Given the description of an element on the screen output the (x, y) to click on. 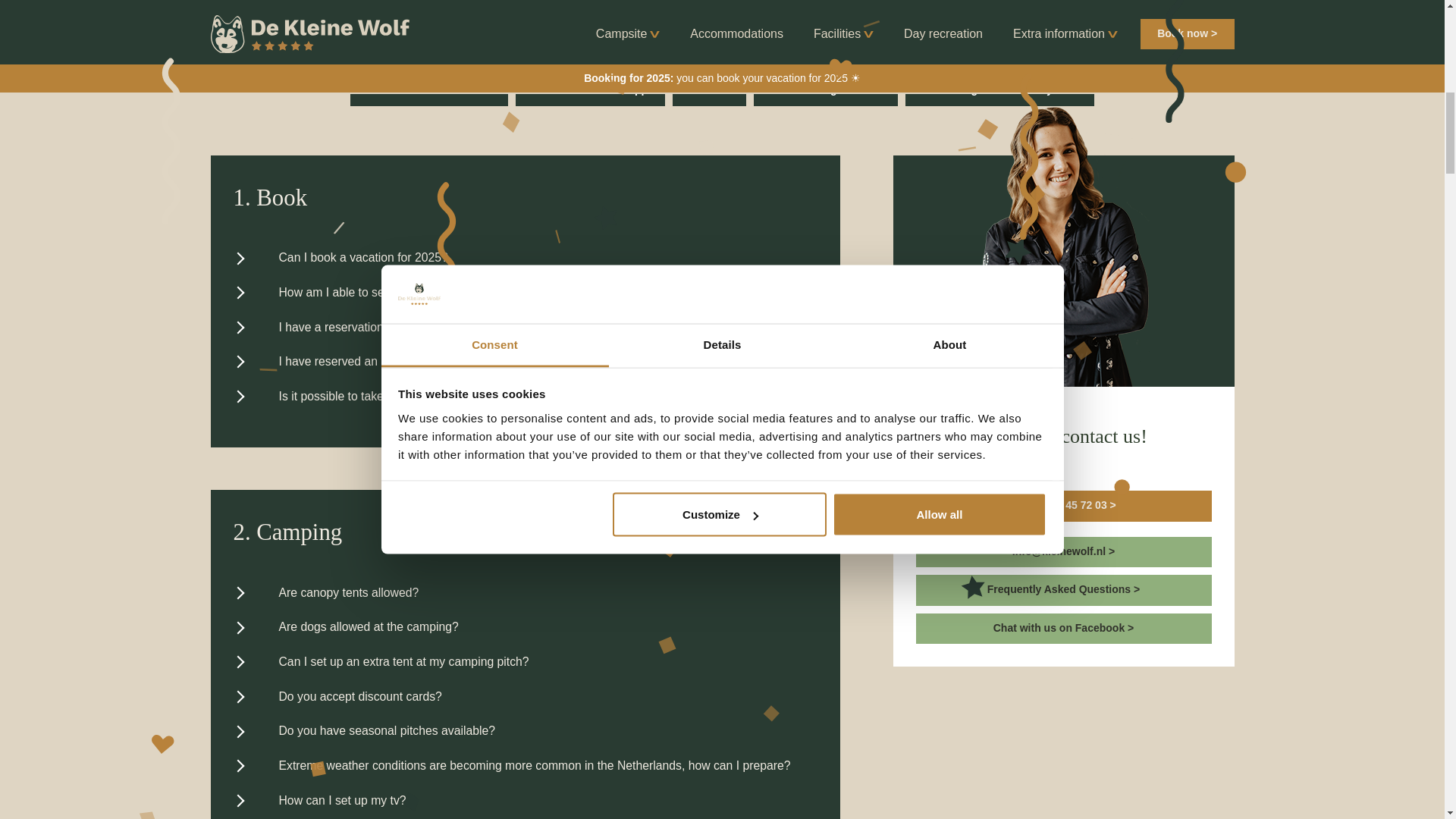
9. Face recognition (655, 51)
15. Rebook guarantee (826, 90)
1. Book (396, 14)
3. Accommodations (607, 14)
10. Digital locks (786, 51)
12. Contactless check-in (429, 90)
16. Moving reservation system (999, 90)
7. Facilities (449, 51)
11. Arrival and departure times (945, 51)
5. Terrain information (858, 14)
